Given the description of an element on the screen output the (x, y) to click on. 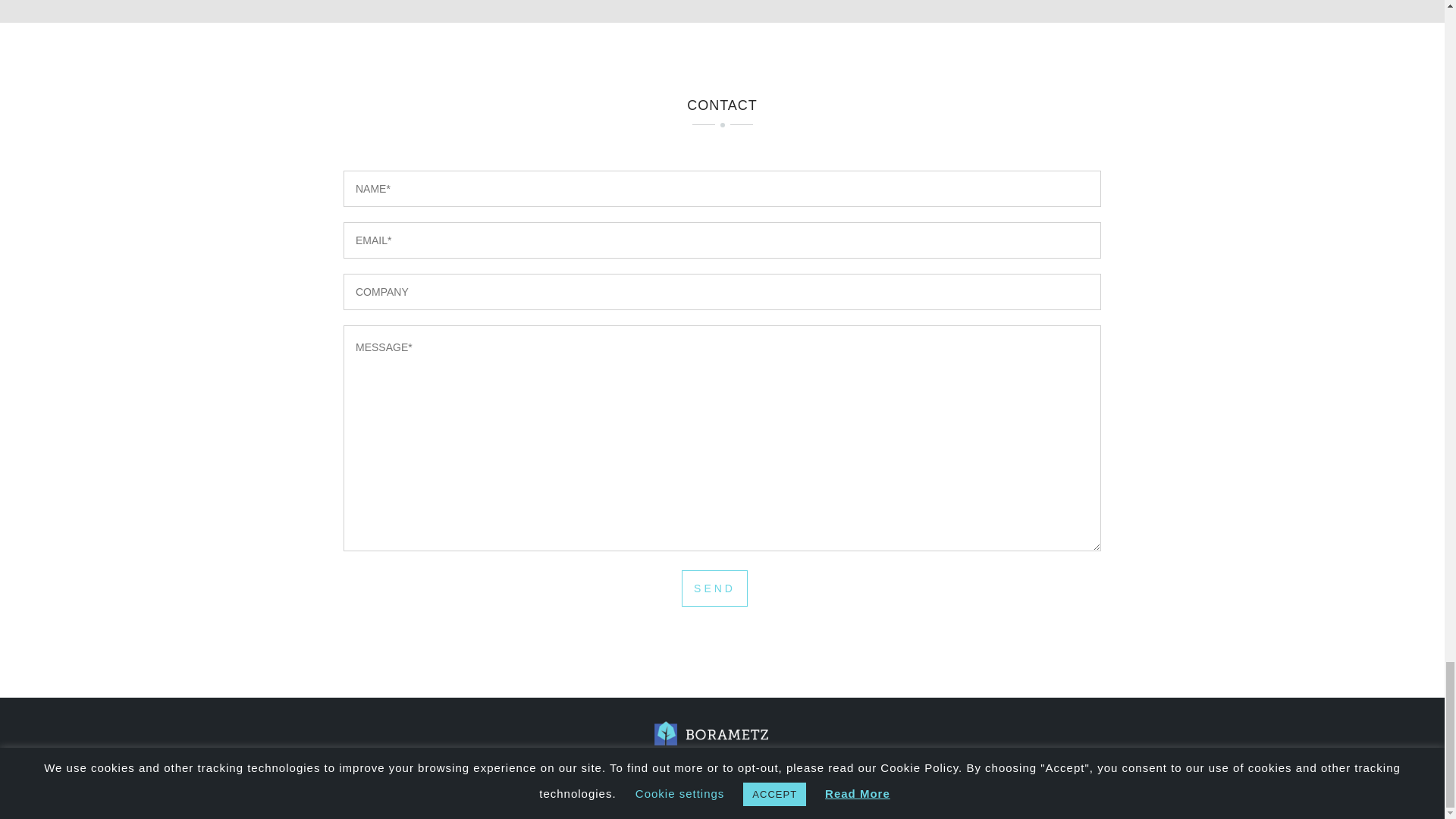
Send (714, 588)
Send (714, 588)
